Given the description of an element on the screen output the (x, y) to click on. 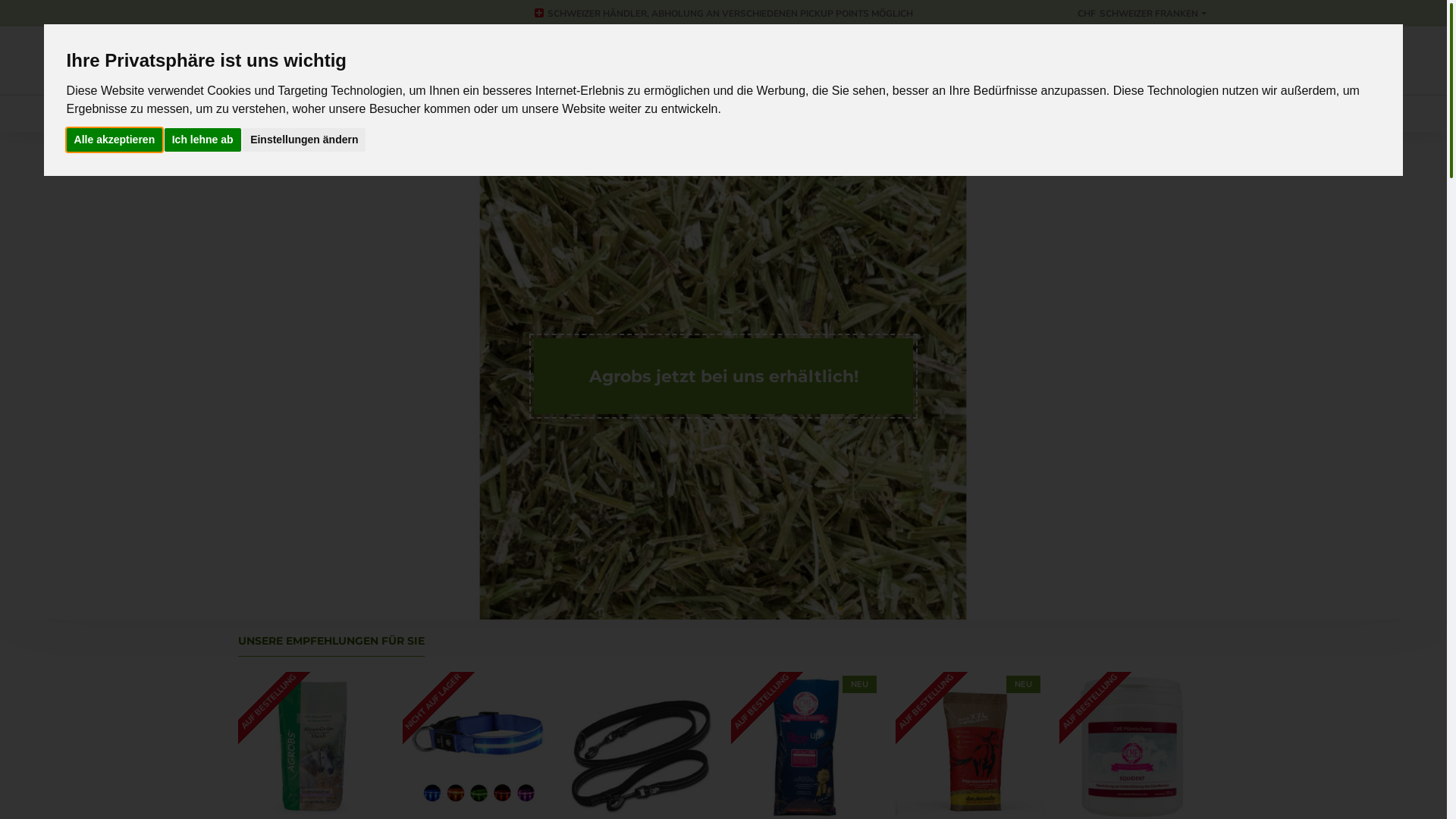
KONTAKT Element type: text (1006, 113)
Ich lehne ab Element type: text (202, 139)
Anmelden
Login / Registrieren Element type: text (904, 60)
HUNDE Element type: text (383, 113)
Alle akzeptieren Element type: text (114, 139)
CHF
SCHWEIZER FRANKEN Element type: text (1137, 12)
HERSTELLER Element type: text (878, 113)
PFERDE Element type: text (307, 113)
Wunschliste
Wunschliste bearbeiten
0 Element type: text (1026, 60)
ANGEBOTE Element type: text (796, 113)
0 Artikel - CHF 0.00
0 Element type: text (1128, 113)
Vergleichen
Produkte vergleichen
0 Element type: text (1151, 60)
